Given the description of an element on the screen output the (x, y) to click on. 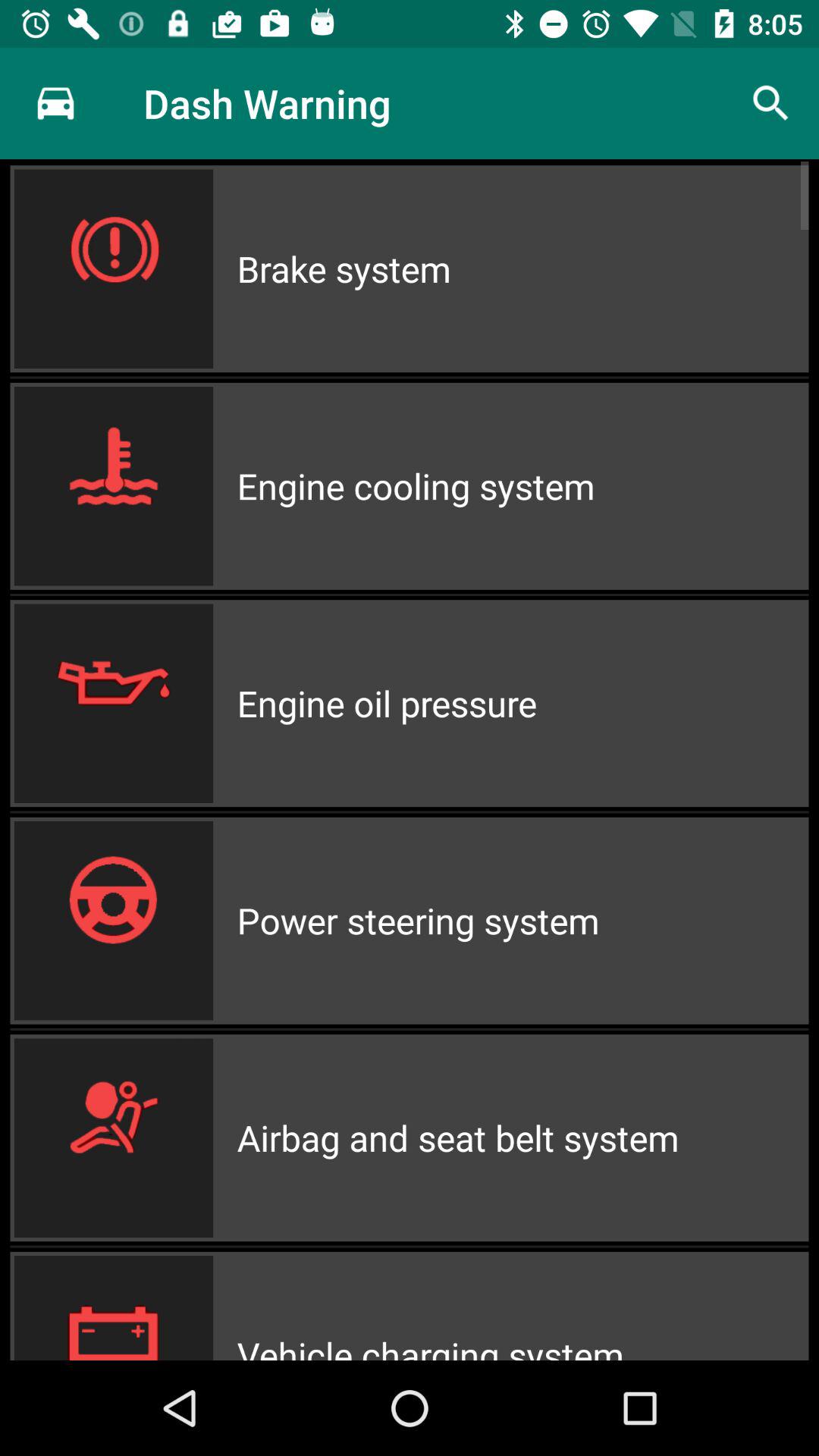
scroll to the airbag and seat icon (522, 1137)
